Given the description of an element on the screen output the (x, y) to click on. 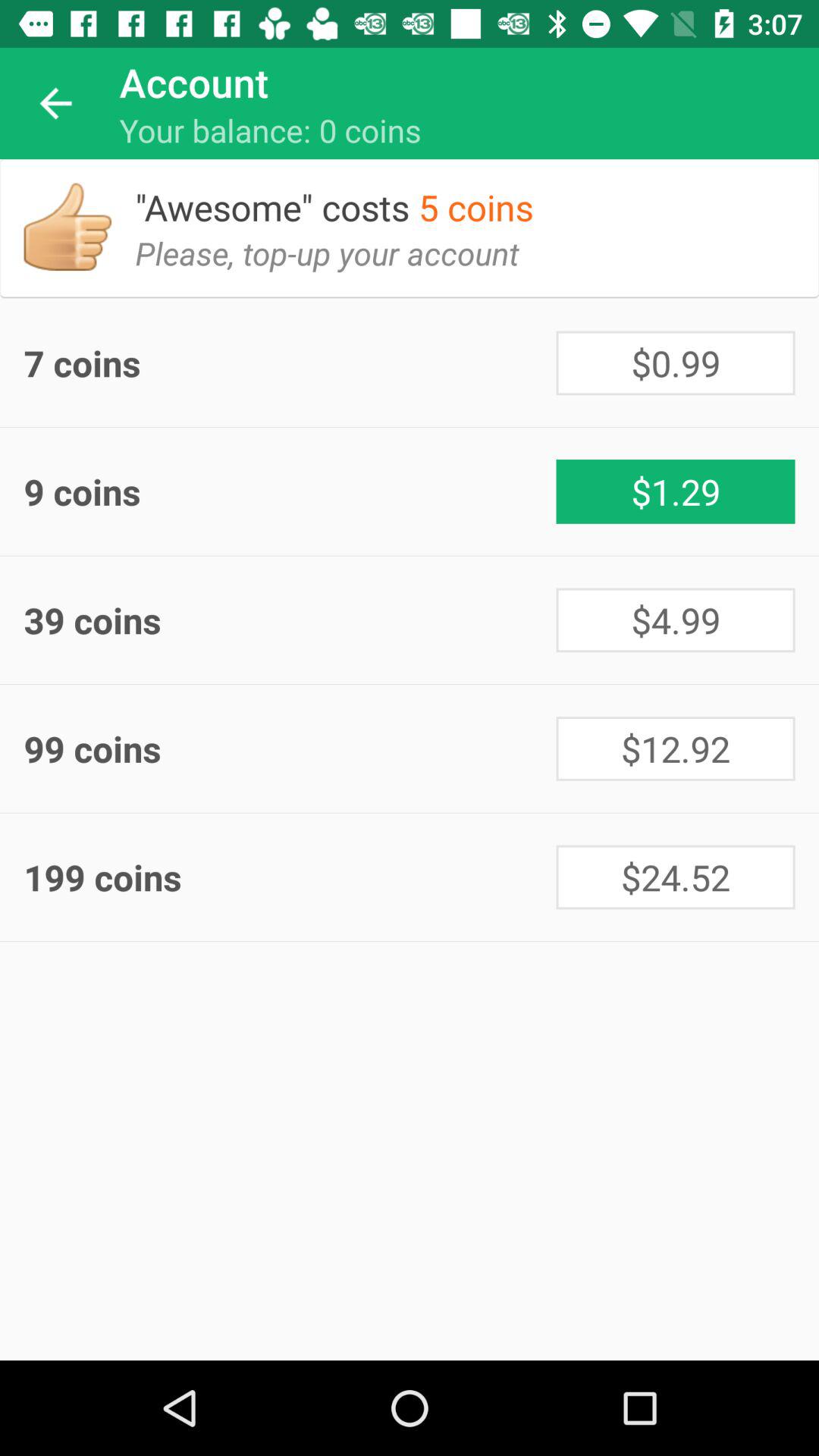
turn on 7 coins icon (289, 363)
